Given the description of an element on the screen output the (x, y) to click on. 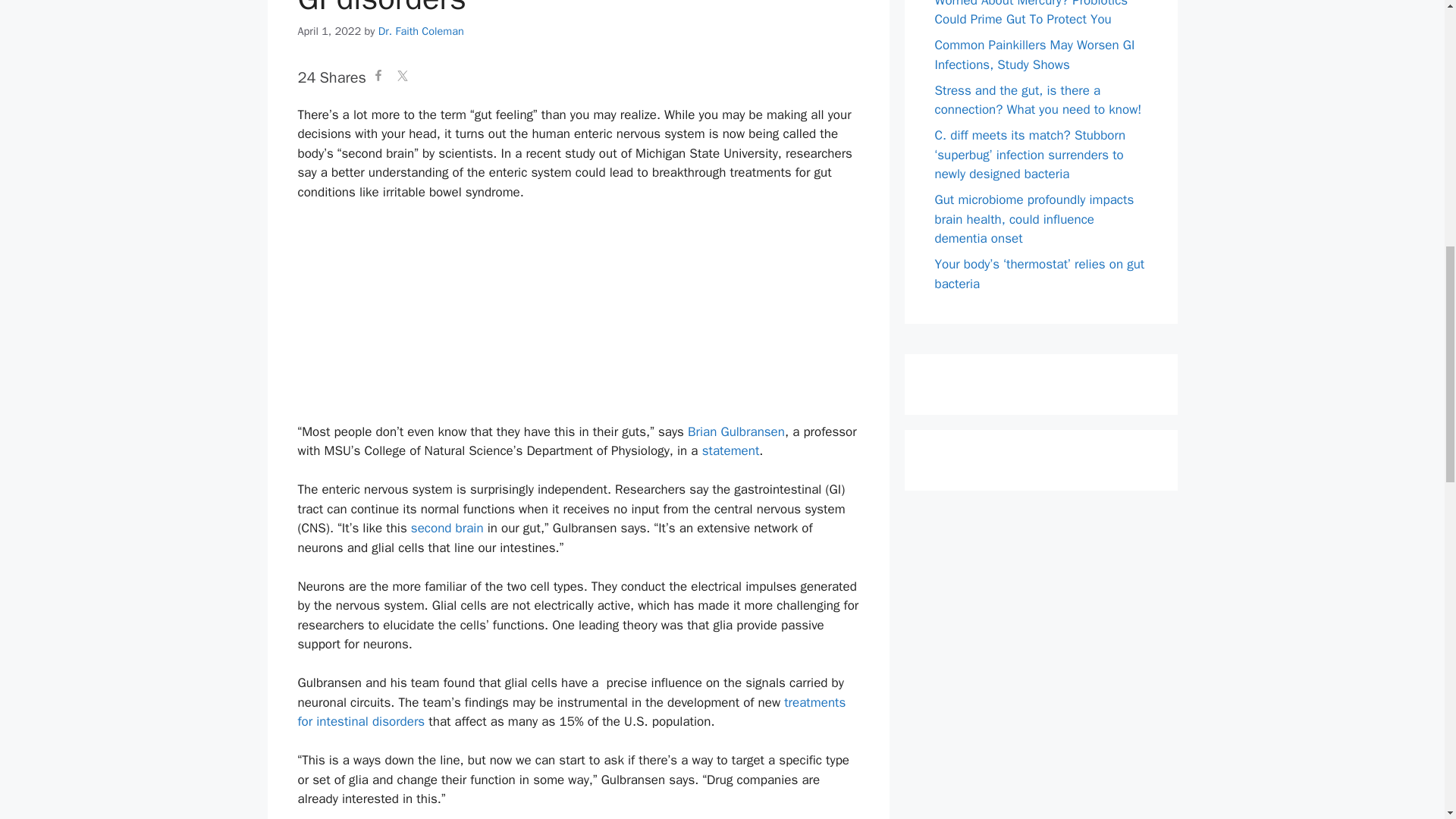
Brian Gulbransen (735, 431)
Dr. Faith Coleman (421, 30)
second brain (446, 528)
Common Painkillers May Worsen GI Infections, Study Shows (1034, 54)
statement (730, 450)
View all posts by Dr. Faith Coleman (421, 30)
treatments for intestinal disorders (571, 712)
Share on Twitter (402, 78)
Share on Facebook (378, 78)
